Given the description of an element on the screen output the (x, y) to click on. 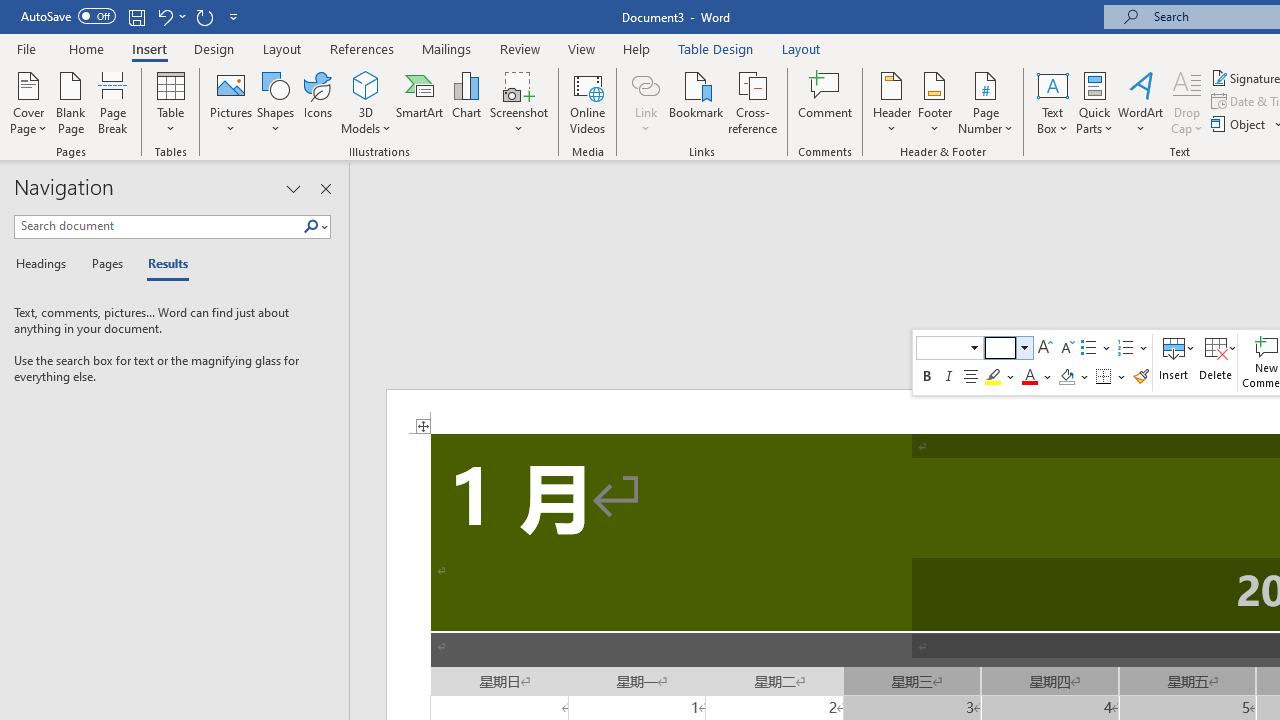
Undo Apply Quick Style (164, 15)
Link (645, 102)
Quick Parts (1094, 102)
Text Box (1052, 102)
Link (645, 84)
